Given the description of an element on the screen output the (x, y) to click on. 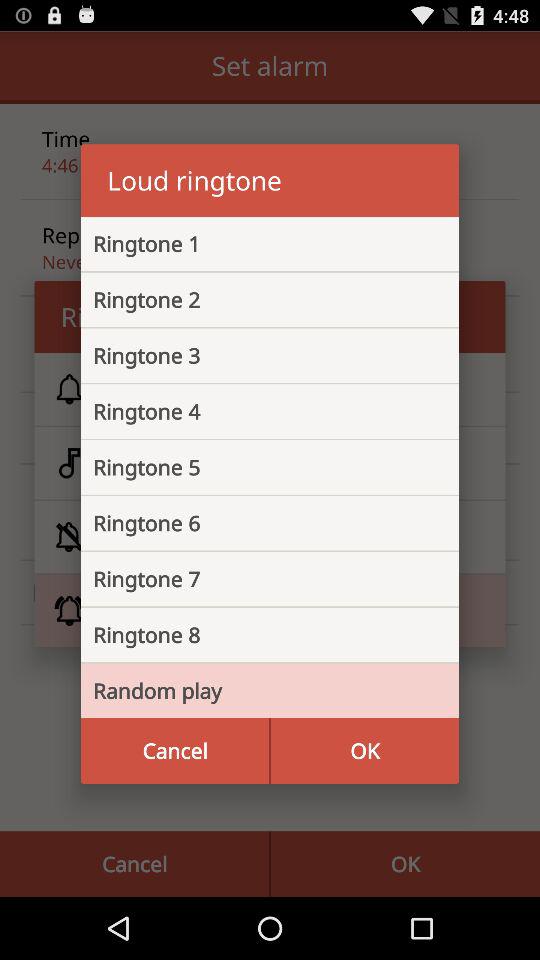
choose the icon above ringtone 7 item (254, 523)
